Given the description of an element on the screen output the (x, y) to click on. 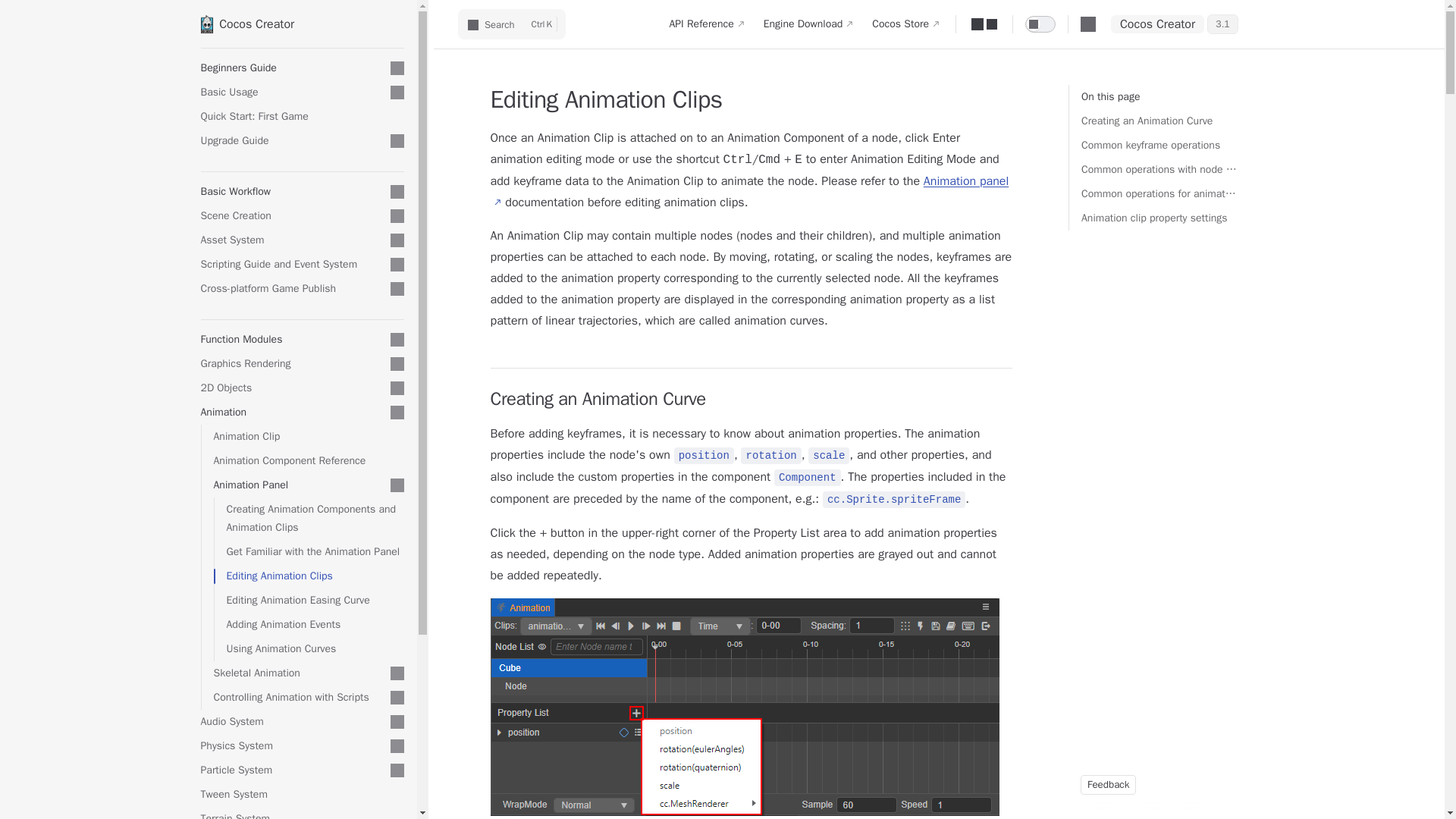
Creating an Animation Curve (1160, 120)
Skip to content (23, 16)
Upgrade Guide (292, 140)
Common operations for animation property data (1160, 193)
Switch to dark theme (1040, 23)
Common keyframe operations (1160, 145)
Cocos Store (906, 24)
API Reference (706, 24)
Engine Download (808, 24)
Common operations with node data (1160, 169)
Animation clip property settings (1160, 218)
Cocos Creator (512, 24)
Basic Usage (301, 24)
Quick Start: First Game (292, 92)
